Given the description of an element on the screen output the (x, y) to click on. 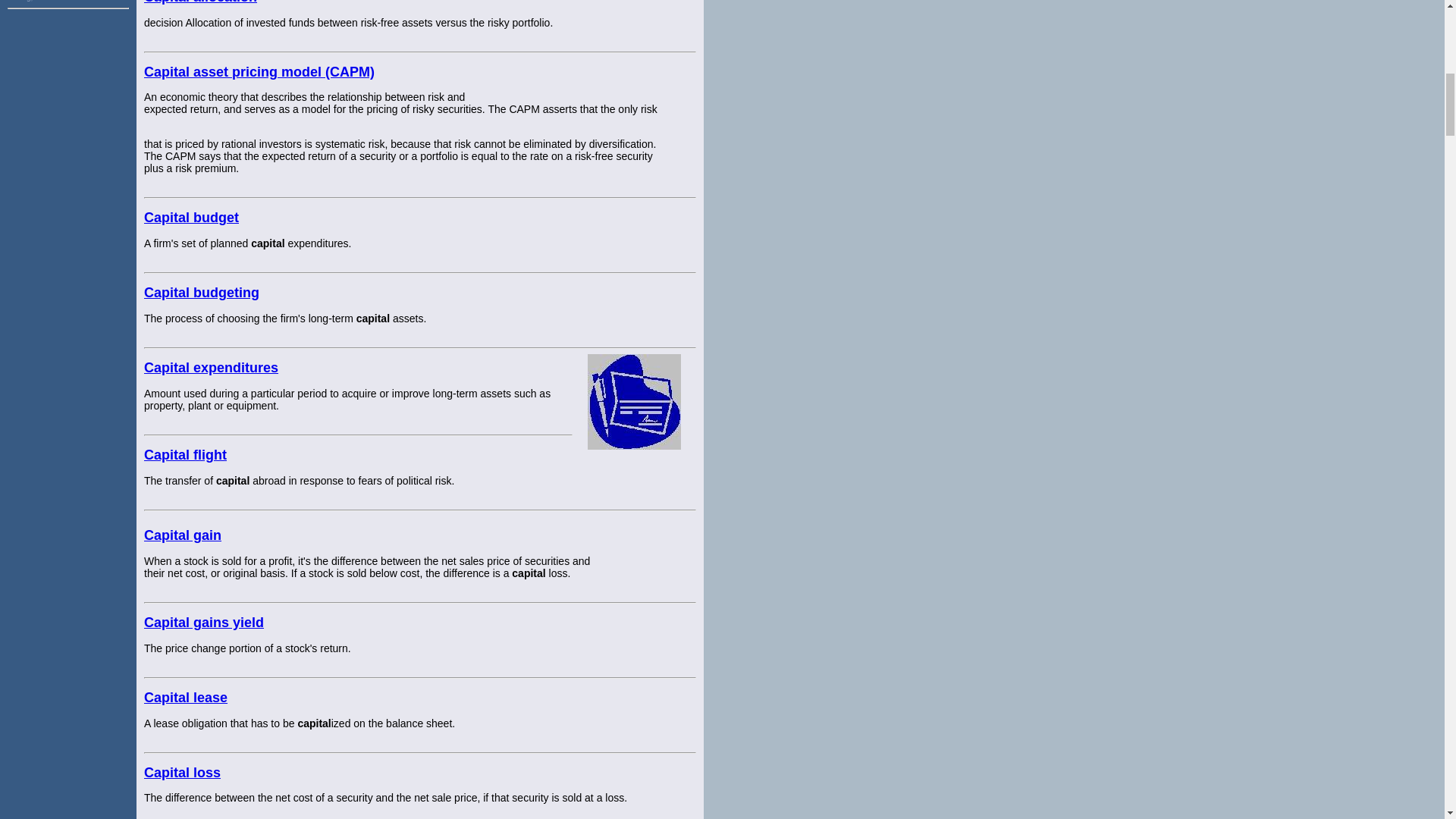
Capital flight (185, 454)
Capital expenditures (211, 367)
Capital gain (182, 534)
Capital allocation (200, 2)
Capital loss (182, 771)
Capital budget (191, 217)
Capital budgeting (201, 292)
Capital gains yield (203, 622)
Capital lease (185, 697)
